Given the description of an element on the screen output the (x, y) to click on. 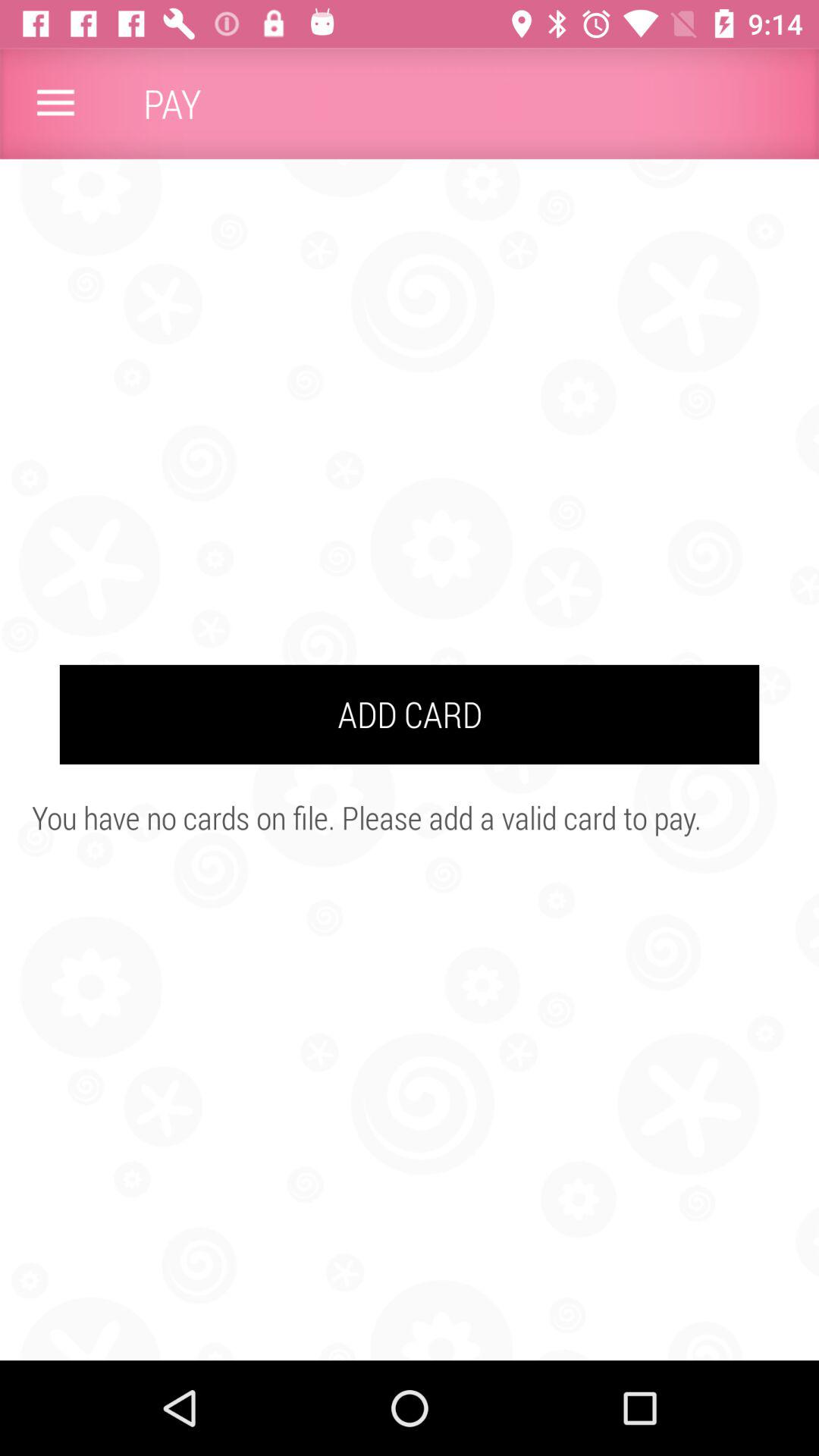
turn on the item next to the pay (55, 103)
